Given the description of an element on the screen output the (x, y) to click on. 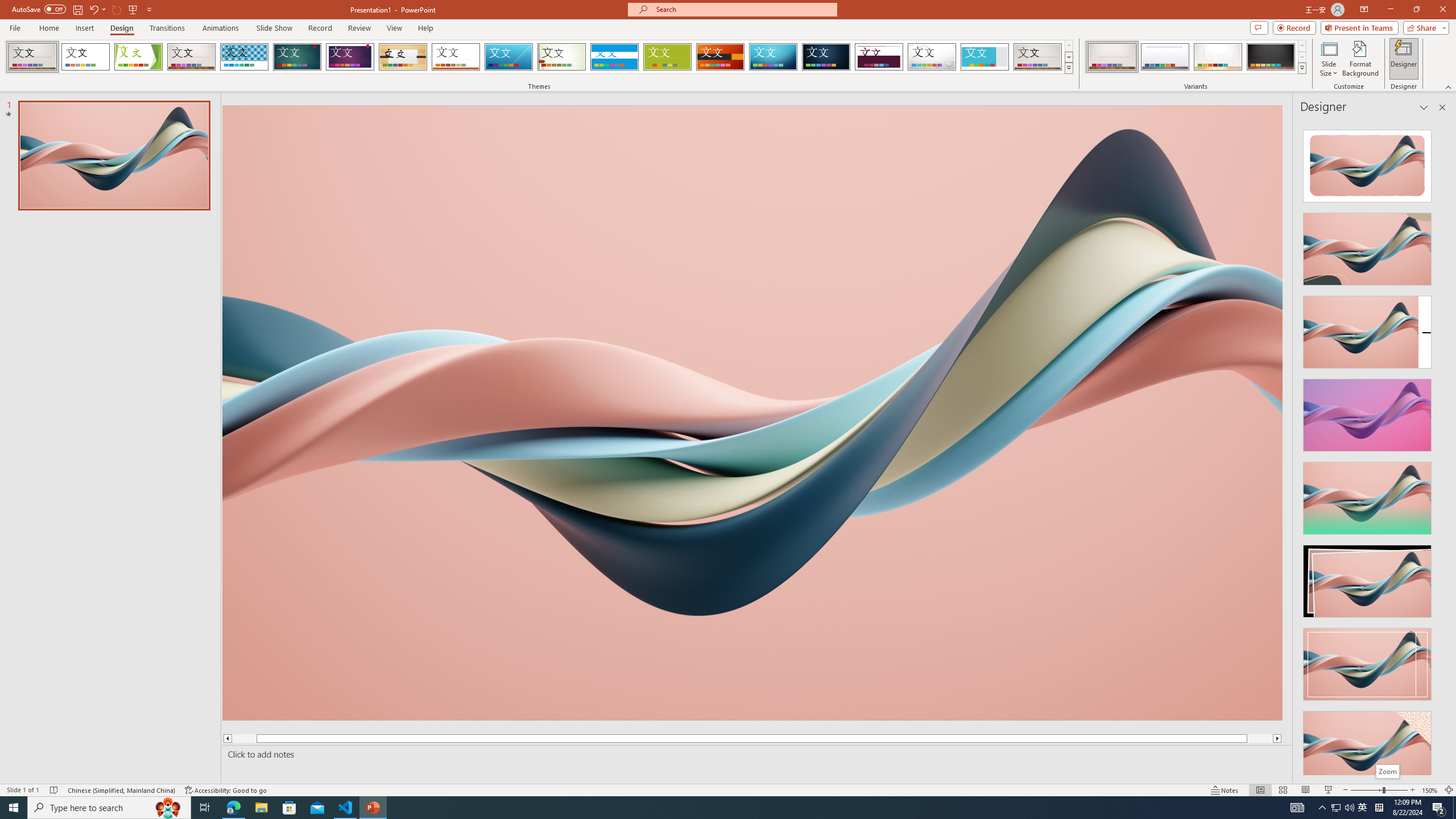
Integral (244, 56)
Basis (667, 56)
Class: NetUIScrollBar (1441, 447)
Banded (614, 56)
Droplet (931, 56)
